Given the description of an element on the screen output the (x, y) to click on. 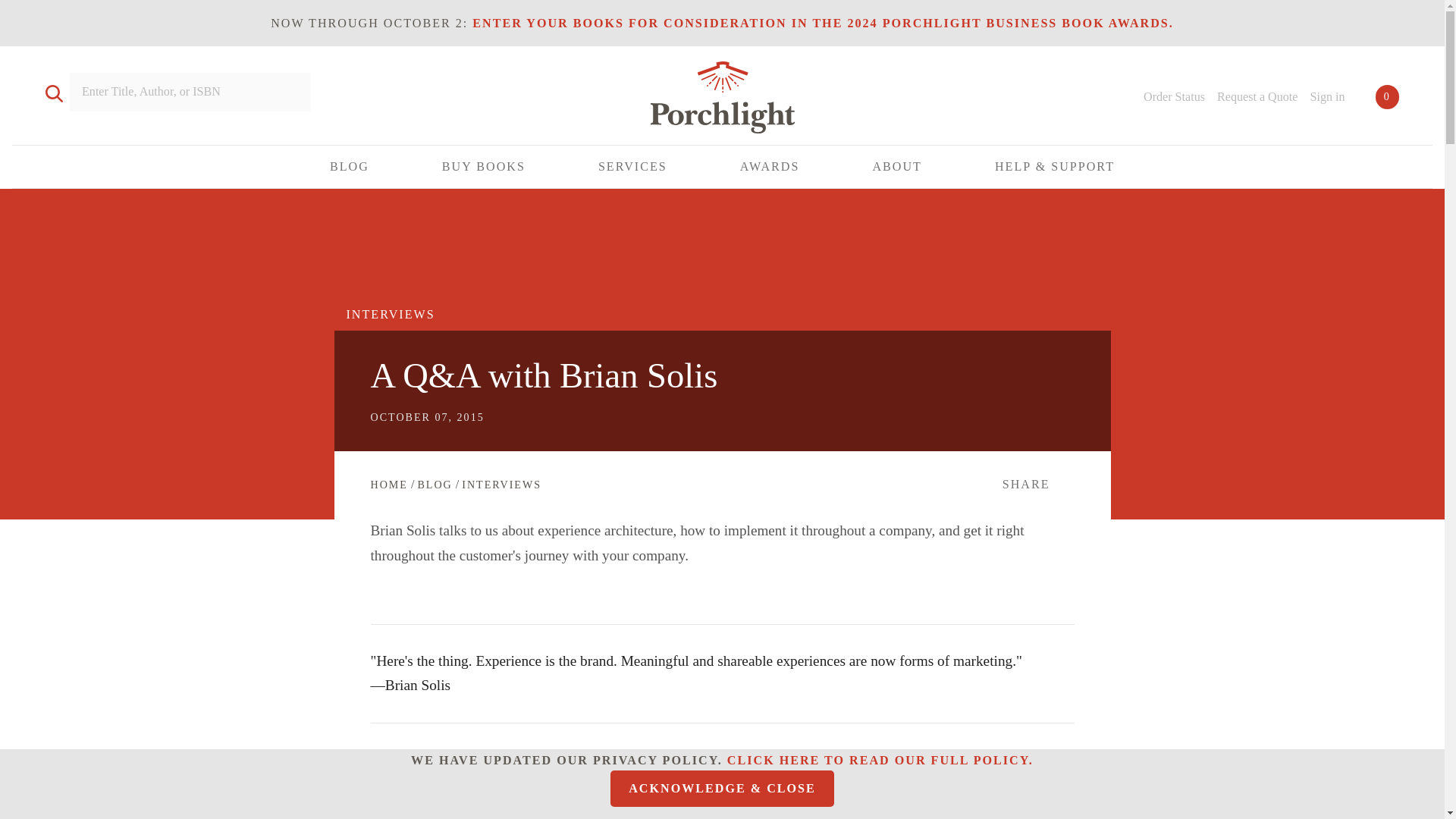
Interviews (501, 484)
SERVICES (632, 166)
Blog (433, 484)
BLOG (350, 166)
Porchlight (721, 99)
BUY BOOKS (484, 166)
